Given the description of an element on the screen output the (x, y) to click on. 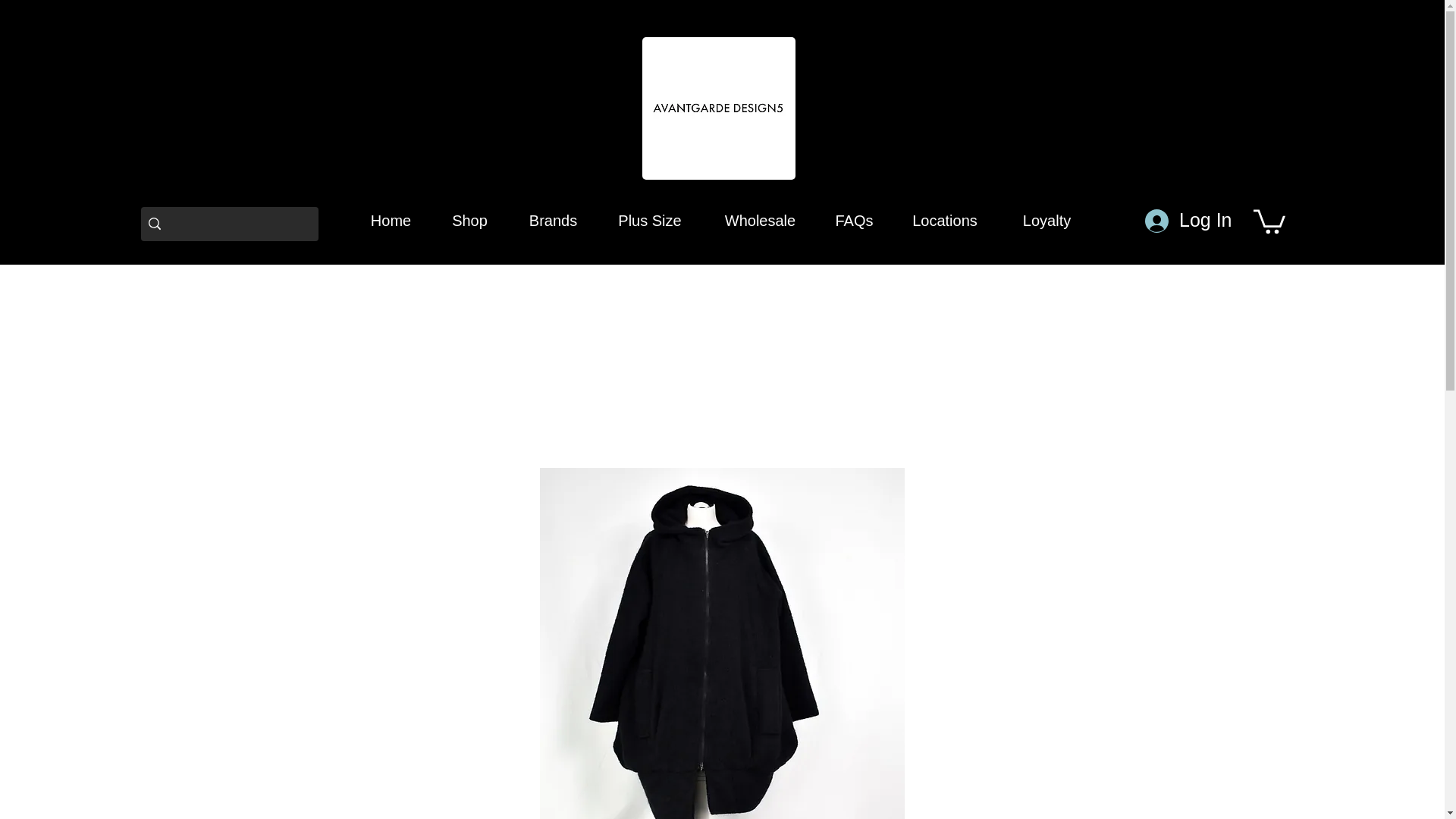
Wholesale (759, 220)
Shop (469, 220)
Home (390, 220)
Locations (944, 220)
FAQs (853, 220)
Plus Size (648, 220)
